Given the description of an element on the screen output the (x, y) to click on. 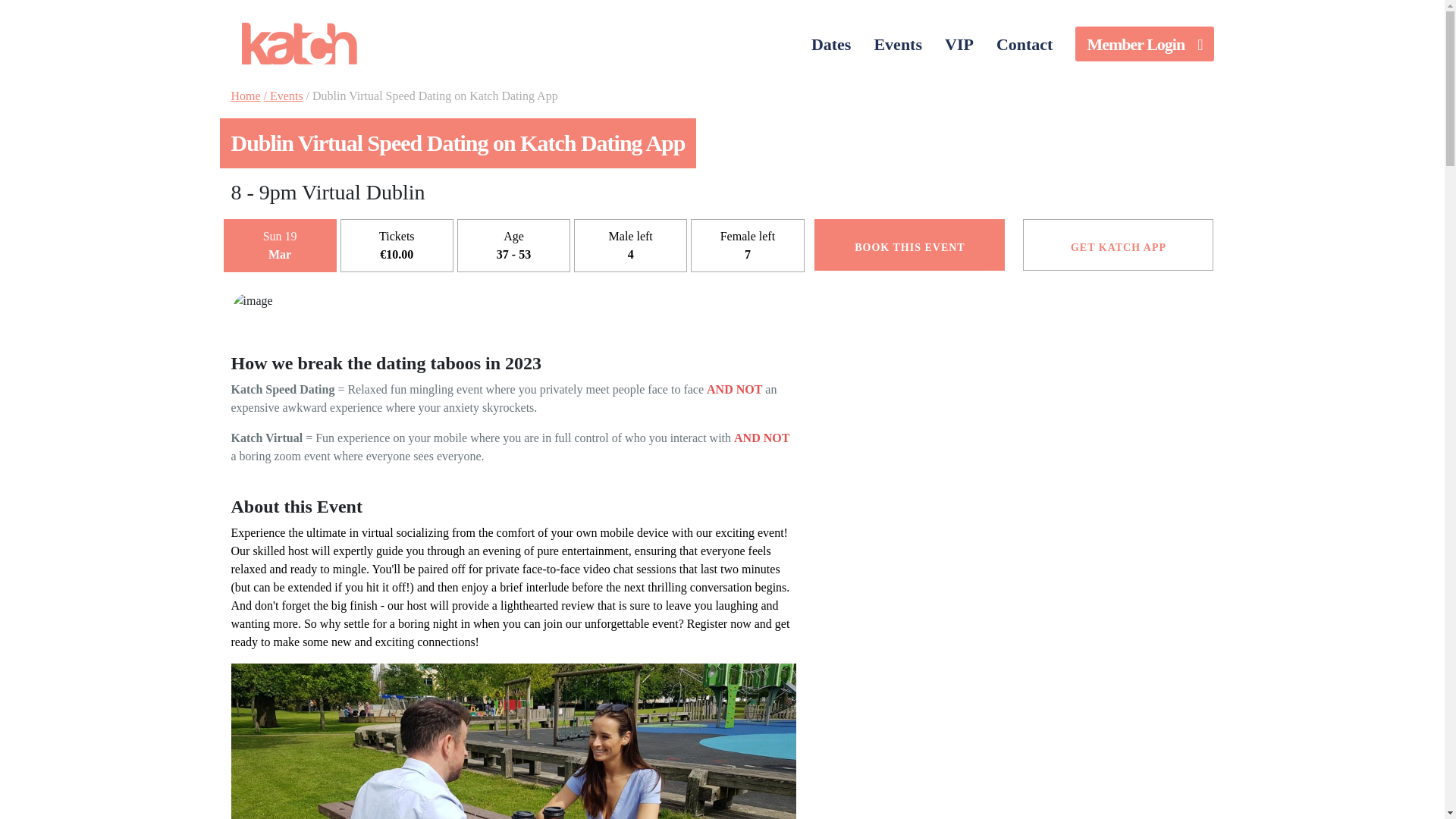
Contact (1024, 43)
Home (245, 95)
VIP (959, 43)
GET KATCH APP (1117, 245)
BOOK THIS EVENT (908, 245)
Dates (831, 43)
Member Login (1143, 43)
Events (897, 43)
